Given the description of an element on the screen output the (x, y) to click on. 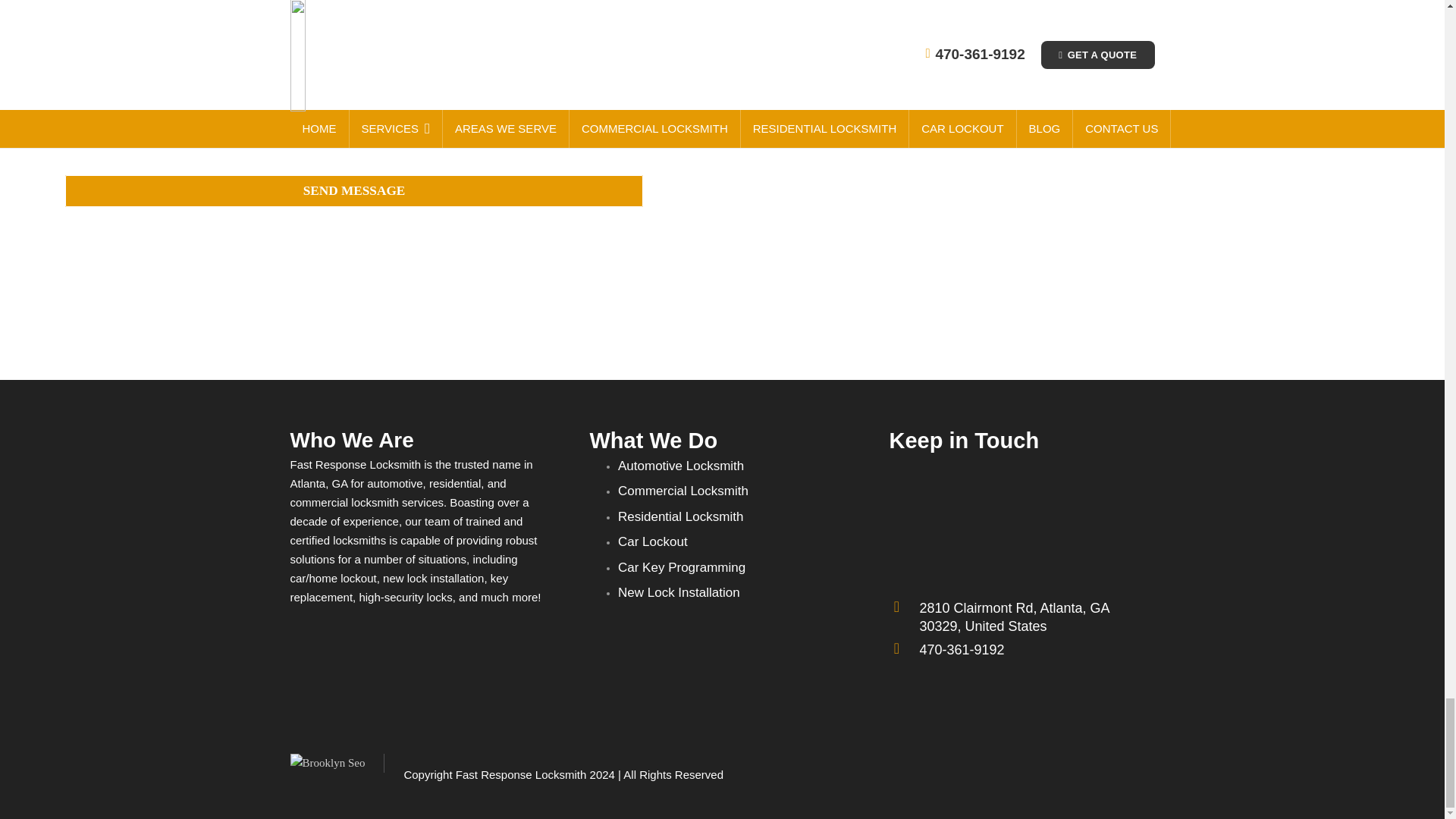
Car Key Programming (681, 567)
Automotive Locksmith (680, 465)
Residential Locksmith (679, 516)
SEND MESSAGE (354, 191)
Commercial Locksmith (682, 490)
New Lock Installation (678, 592)
Car Lockout (652, 541)
